Given the description of an element on the screen output the (x, y) to click on. 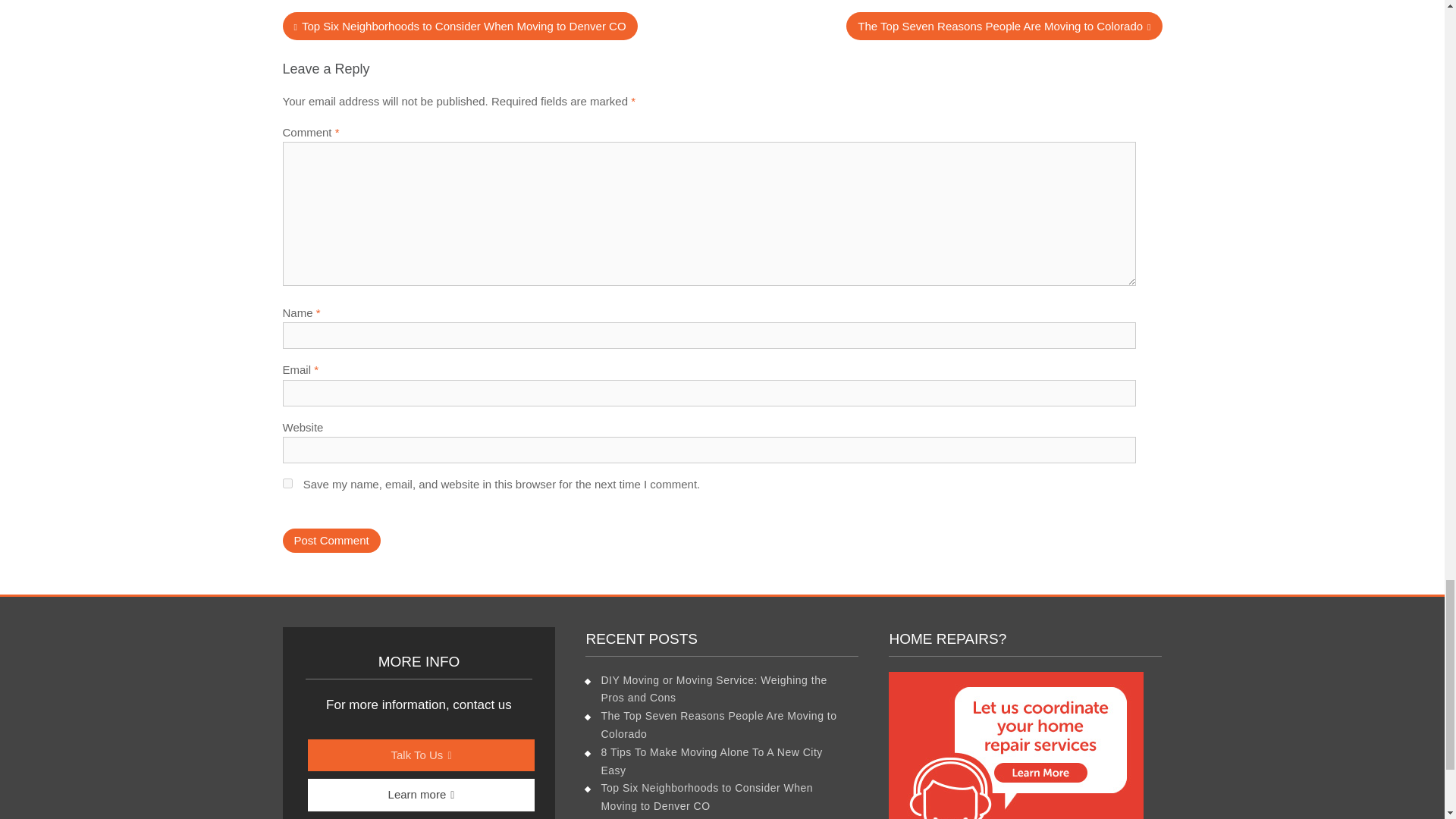
Post Comment (331, 540)
Talk To Us (421, 755)
8 Tips To Make Moving Alone To A New City Easy (710, 761)
yes (287, 483)
Learn more (421, 794)
The Top Seven Reasons People Are Moving to Colorado (1003, 26)
DIY Moving or Moving Service: Weighing the Pros and Cons (713, 689)
Top Six Neighborhoods to Consider When Moving to Denver CO (459, 26)
Top Six Neighborhoods to Consider When Moving to Denver CO (705, 797)
Post Comment (331, 540)
